Given the description of an element on the screen output the (x, y) to click on. 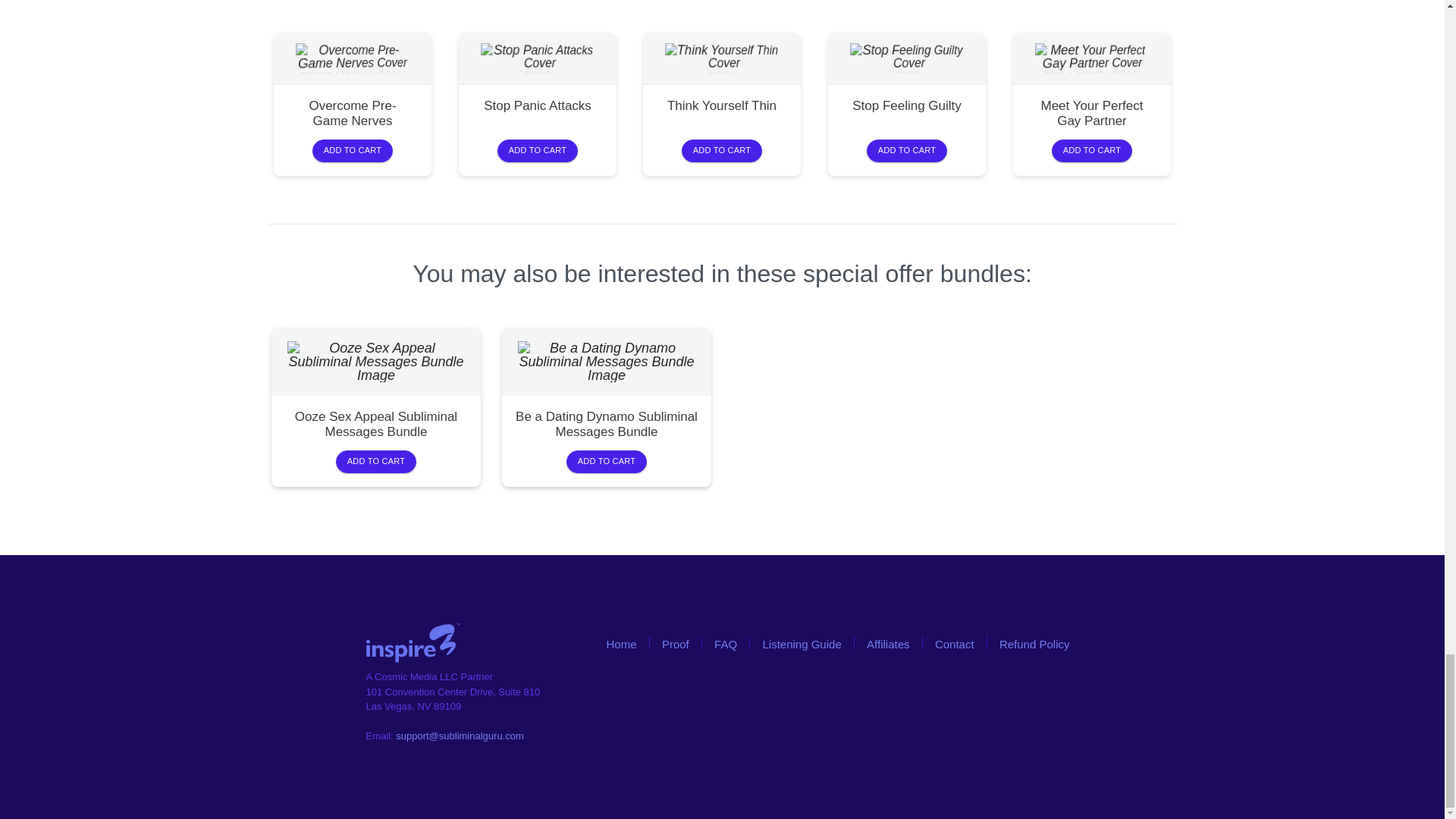
Stop Panic Attacks (537, 105)
Be a Dating Dynamo Subliminal Messages Bundle Page (606, 424)
ADD TO CART (353, 150)
ADD TO CART (906, 150)
Meet Your Perfect Gay Partner Page (1091, 113)
Overcome Pre-Game Nerves (352, 113)
Think Yourself Thin Page (721, 105)
ADD TO CART (722, 150)
Stop Feeling Guilty (906, 105)
Meet Your Perfect Gay Partner (1091, 113)
